Given the description of an element on the screen output the (x, y) to click on. 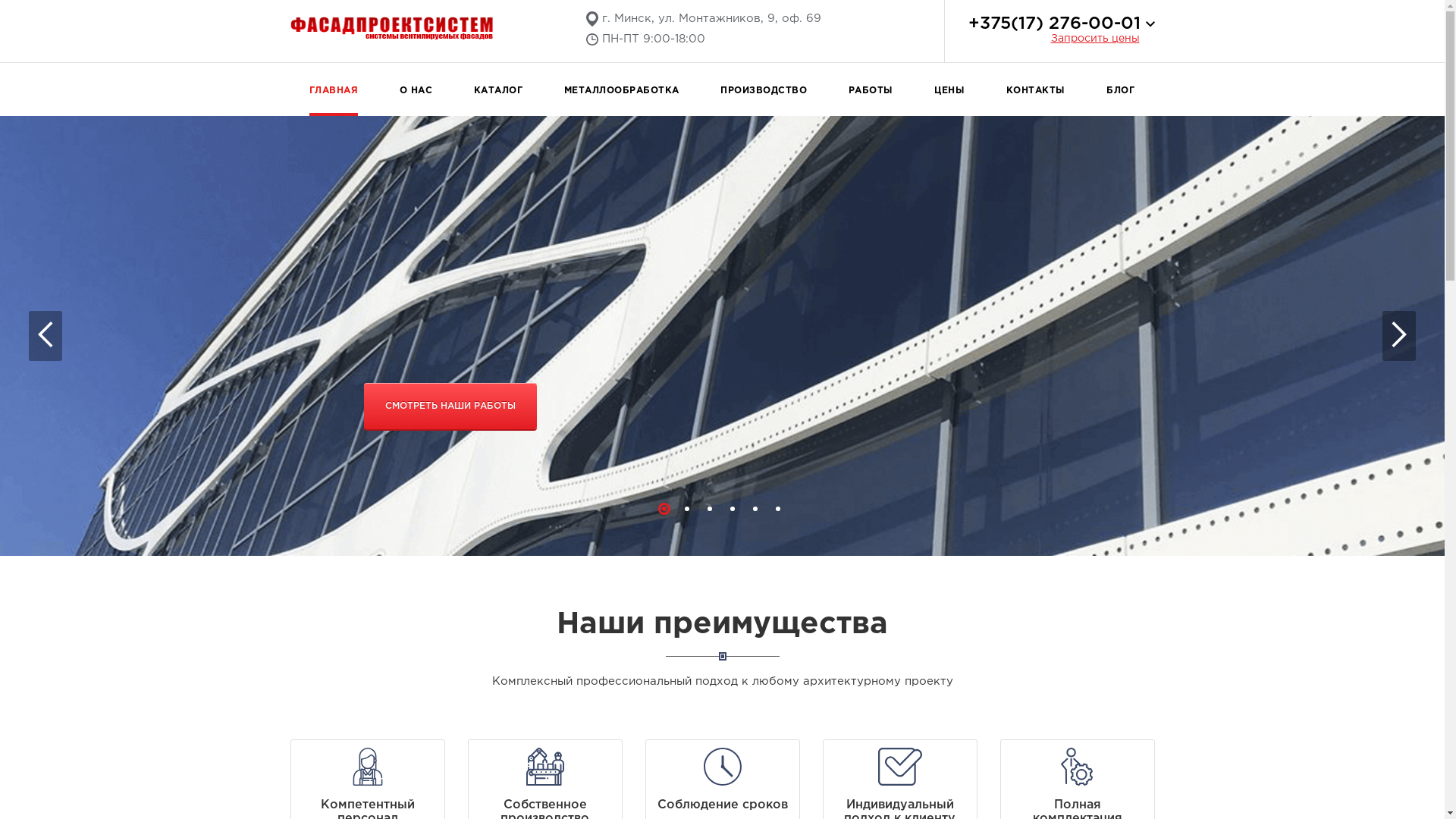
6 Element type: text (777, 508)
4 Element type: text (732, 508)
5 Element type: text (755, 508)
+375(17) 276-00-01 Element type: text (1053, 23)
2 Element type: text (686, 508)
3 Element type: text (709, 508)
1 Element type: text (664, 508)
